Given the description of an element on the screen output the (x, y) to click on. 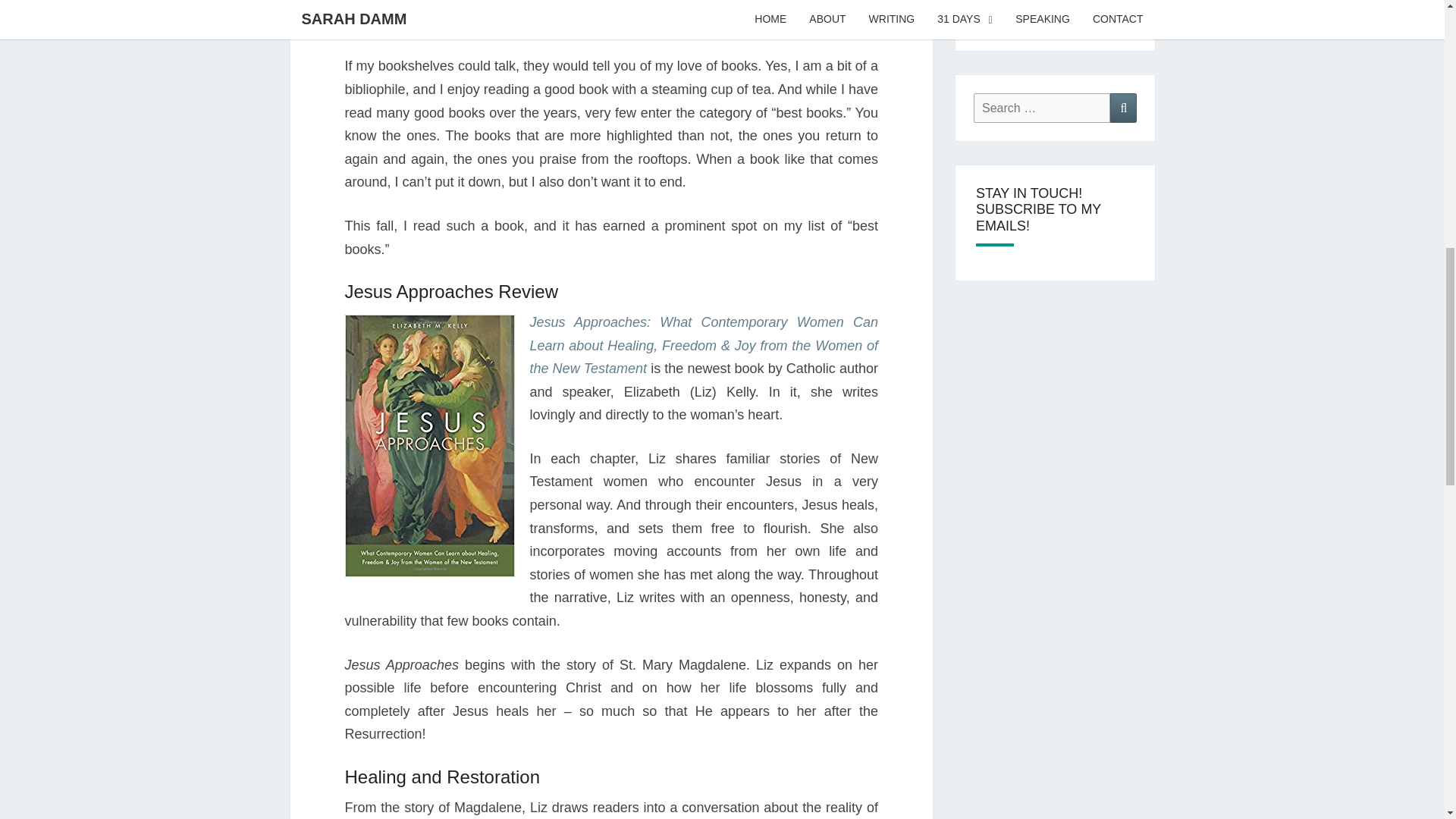
Sarah (682, 15)
Search (1123, 107)
View all posts by Sarah (682, 15)
December 22, 2017 (593, 15)
HERE (1017, 4)
Search for: (1041, 107)
6:12 pm (593, 15)
